Given the description of an element on the screen output the (x, y) to click on. 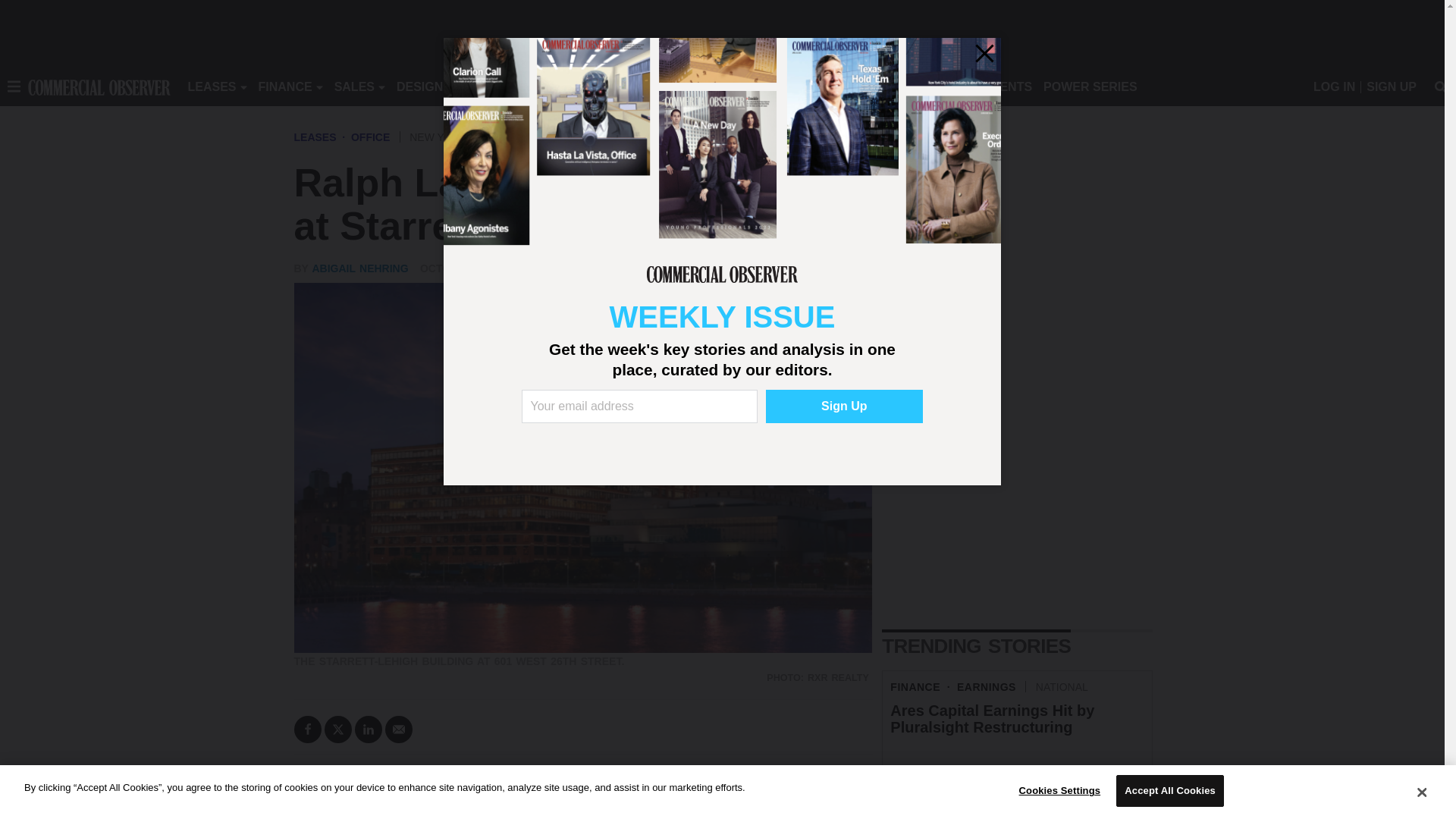
MORE (691, 86)
TECHNOLOGY (619, 86)
Send email (398, 728)
Posts by Abigail Nehring (359, 268)
FINANCE (286, 86)
LEASES (211, 86)
SALES (354, 86)
Commercial Observer Home (98, 86)
Share on LinkedIn (368, 728)
Share on Facebook (307, 728)
Tweet (338, 728)
